Given the description of an element on the screen output the (x, y) to click on. 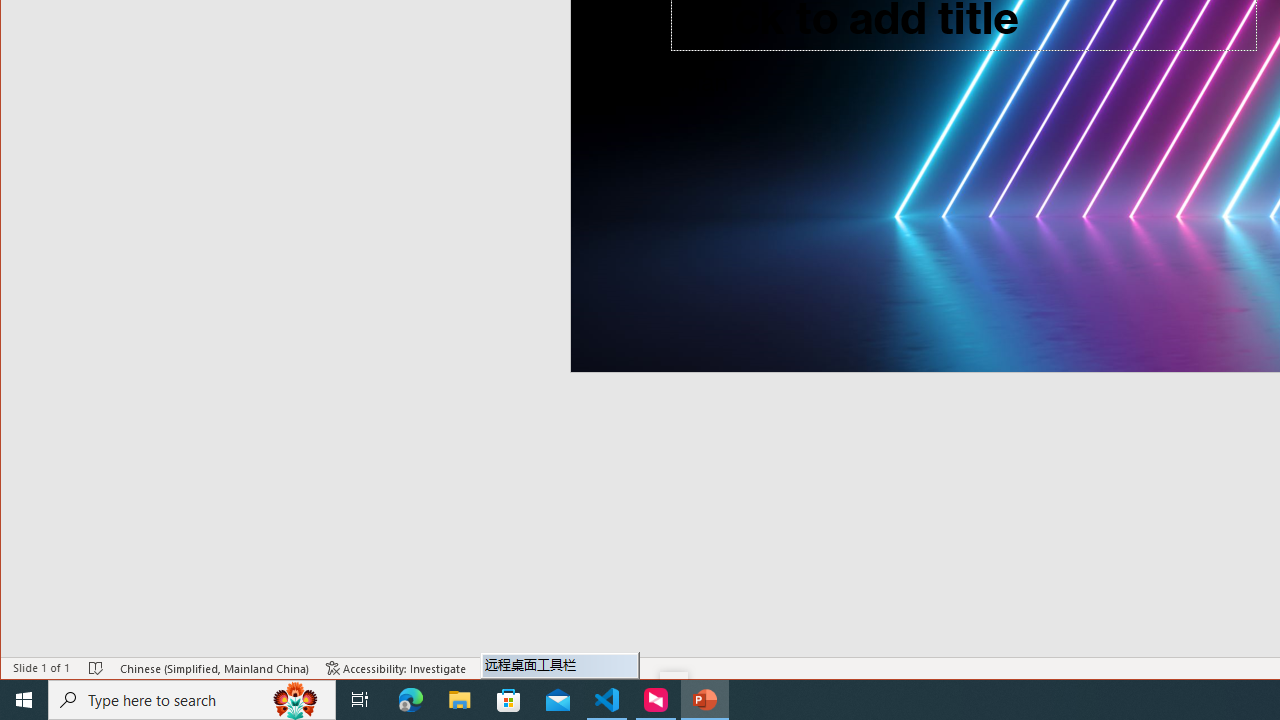
Microsoft Edge (411, 699)
Subtitle TextBox (907, 152)
